Given the description of an element on the screen output the (x, y) to click on. 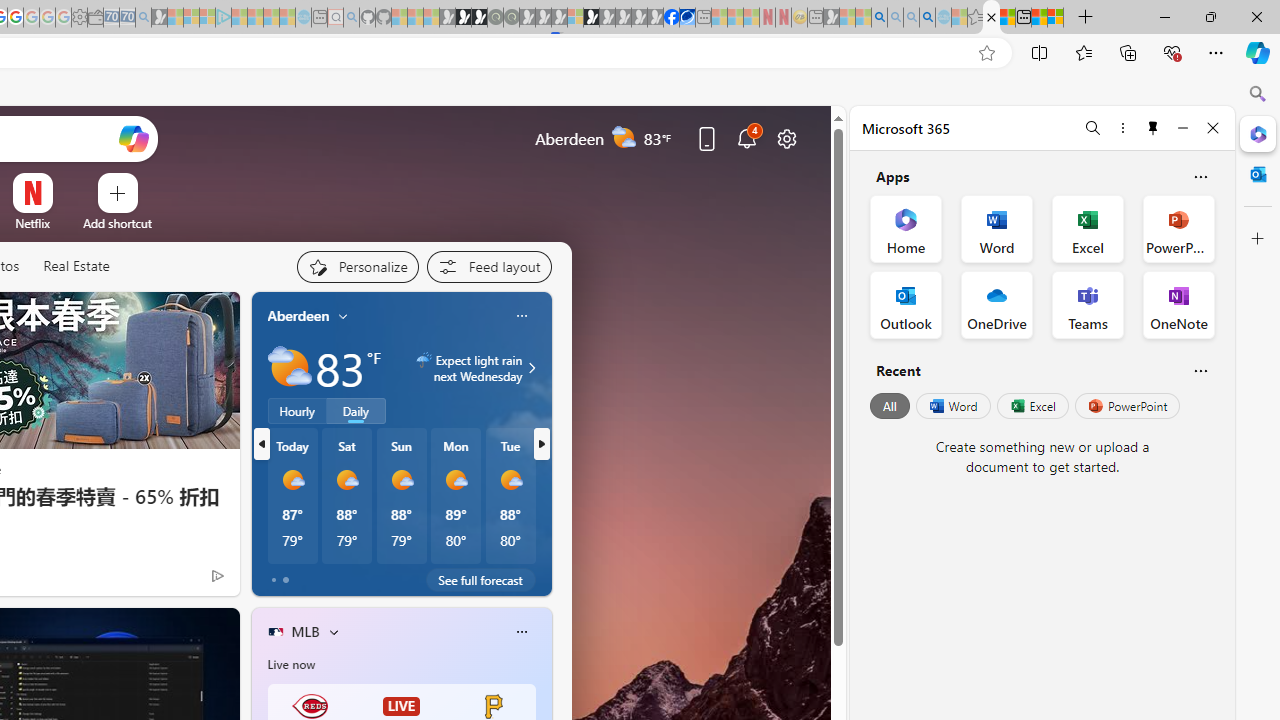
Teams Office App (1087, 304)
Settings - Sleeping (79, 17)
next (541, 443)
Class: icon-img (521, 632)
tab-1 (285, 579)
Expect light rain next Wednesday (529, 367)
Hourly (296, 411)
See full forecast (480, 579)
Word Office App (996, 228)
